Given the description of an element on the screen output the (x, y) to click on. 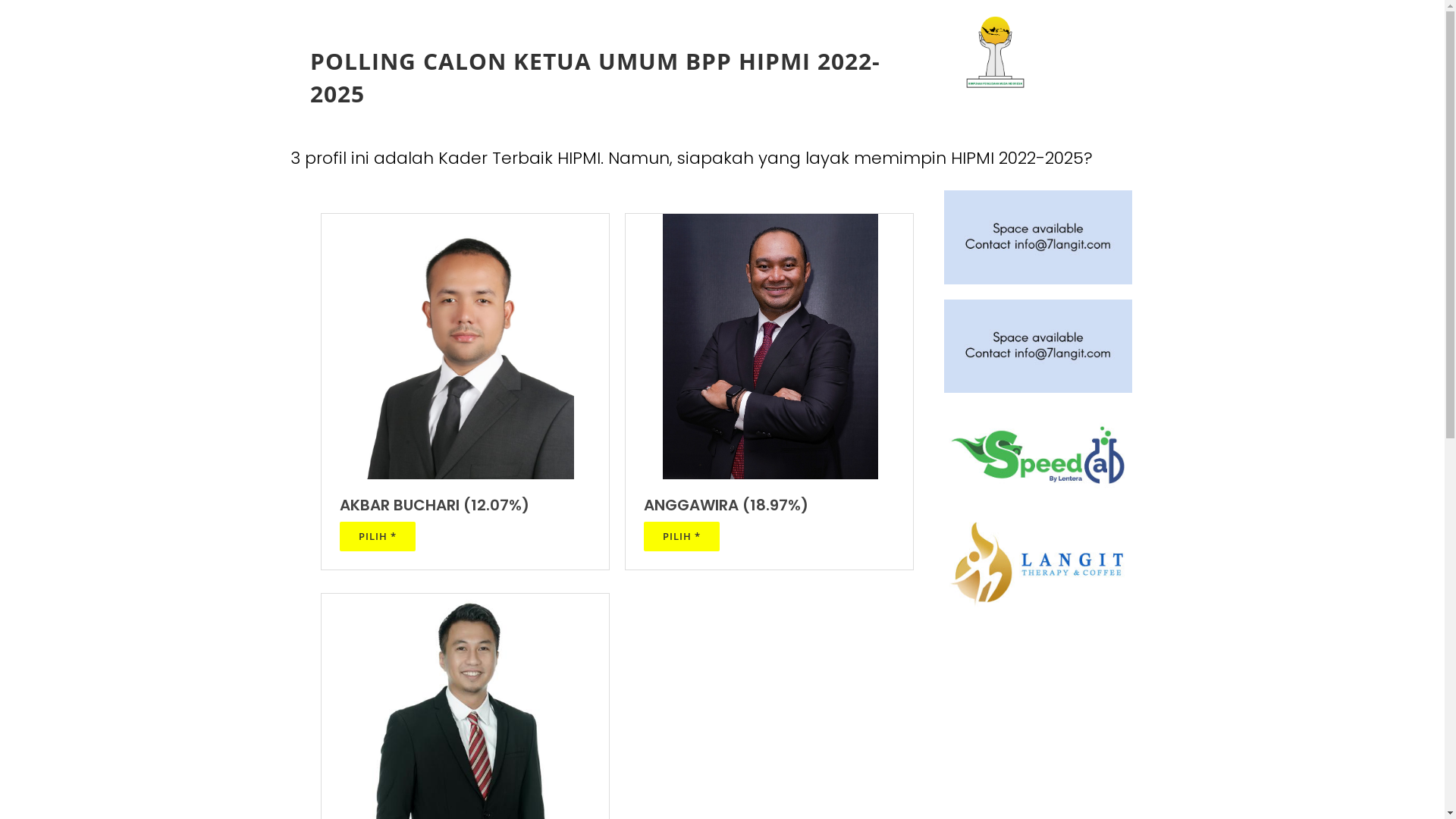
AKBAR BUCHARI (12.07%) Element type: text (464, 504)
ANGGAWIRA (18.97%) Element type: text (768, 504)
PILIH * Element type: text (681, 536)
PILIH * Element type: text (377, 536)
POLLING CALON KETUA UMUM BPP HIPMI 2022-2025 Element type: text (620, 77)
